Given the description of an element on the screen output the (x, y) to click on. 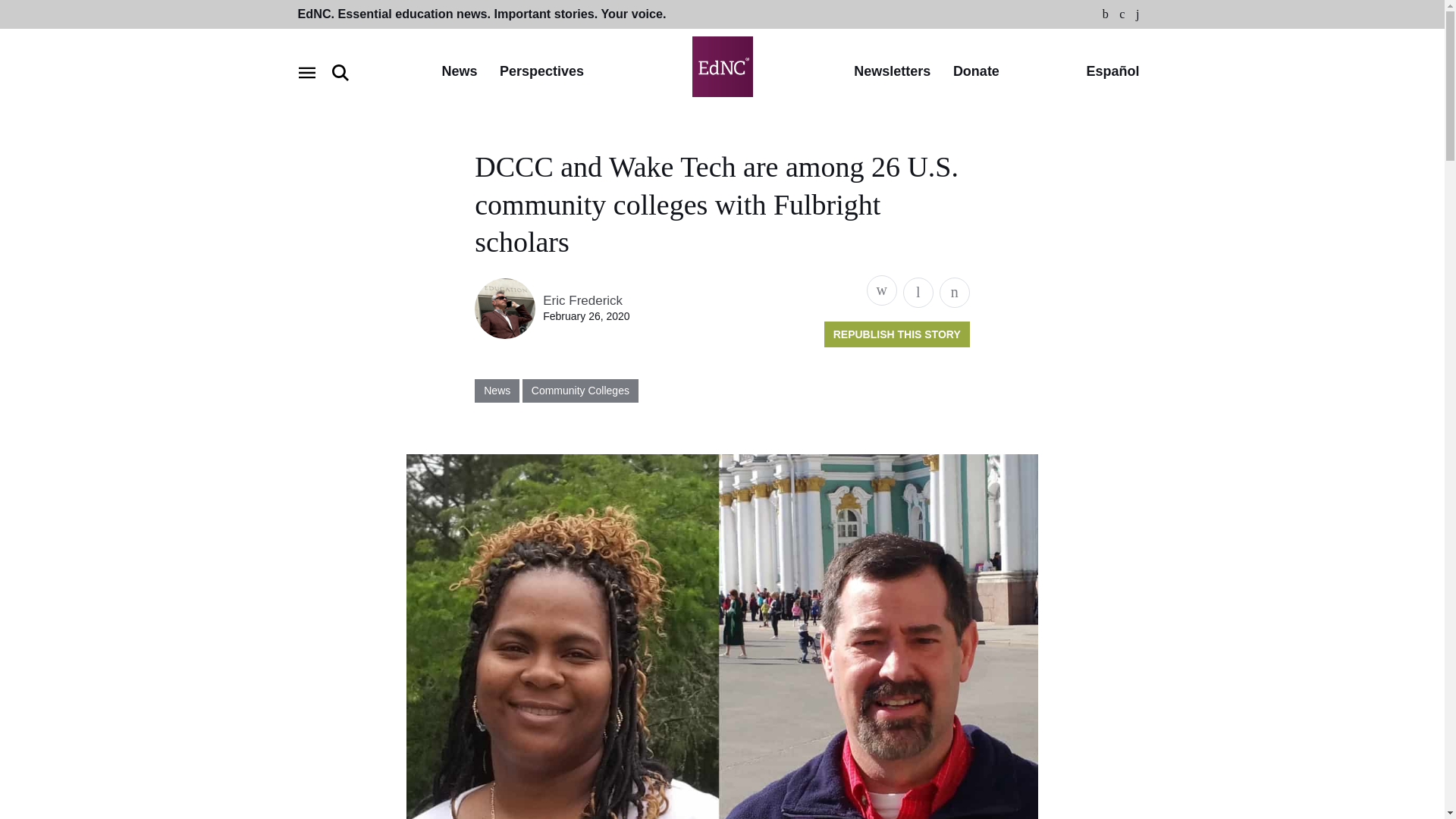
Newsletters (891, 71)
Perspectives (541, 71)
Donate (975, 71)
Eric Frederick (583, 300)
Share this page (881, 290)
News (459, 71)
Open navigation (306, 72)
